Given the description of an element on the screen output the (x, y) to click on. 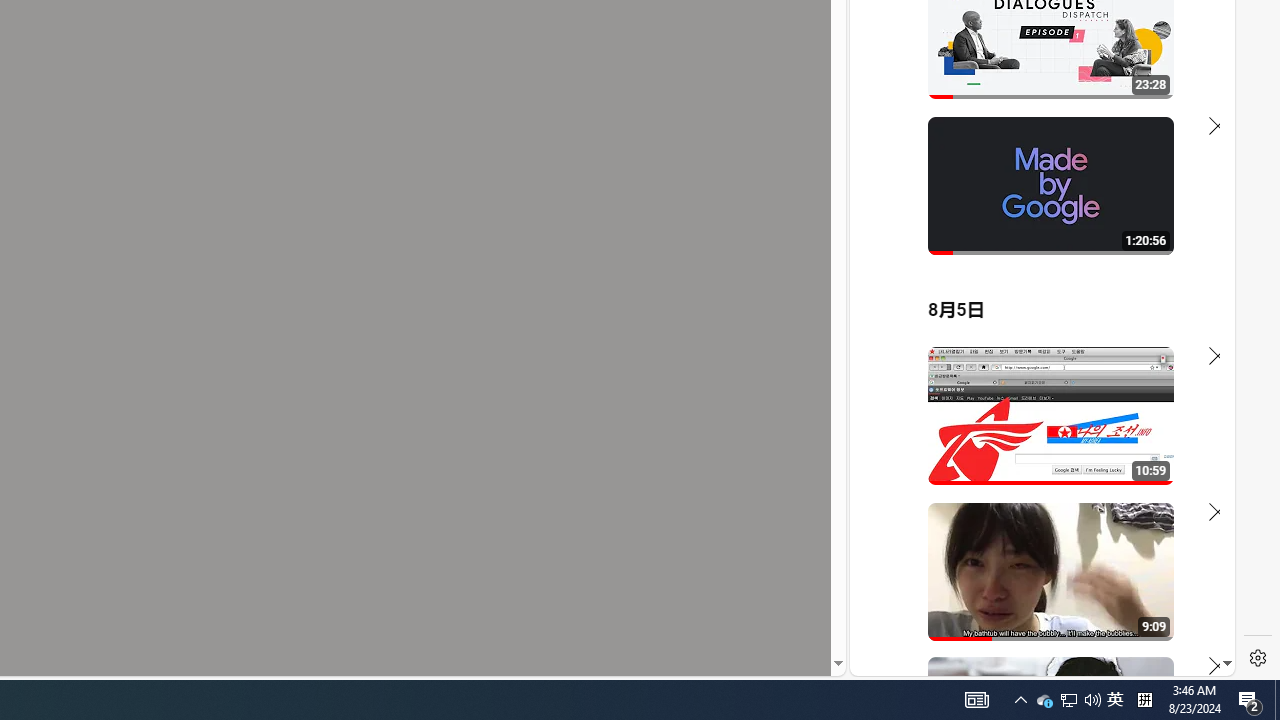
US[ju] (917, 660)
you (1034, 609)
Global web icon (888, 432)
Click to scroll right (1196, 83)
Class: dict_pnIcon rms_img (1028, 660)
Actions for this site (1131, 443)
YouTube (1034, 432)
YouTube - YouTube (1034, 266)
#you (1034, 439)
